Given the description of an element on the screen output the (x, y) to click on. 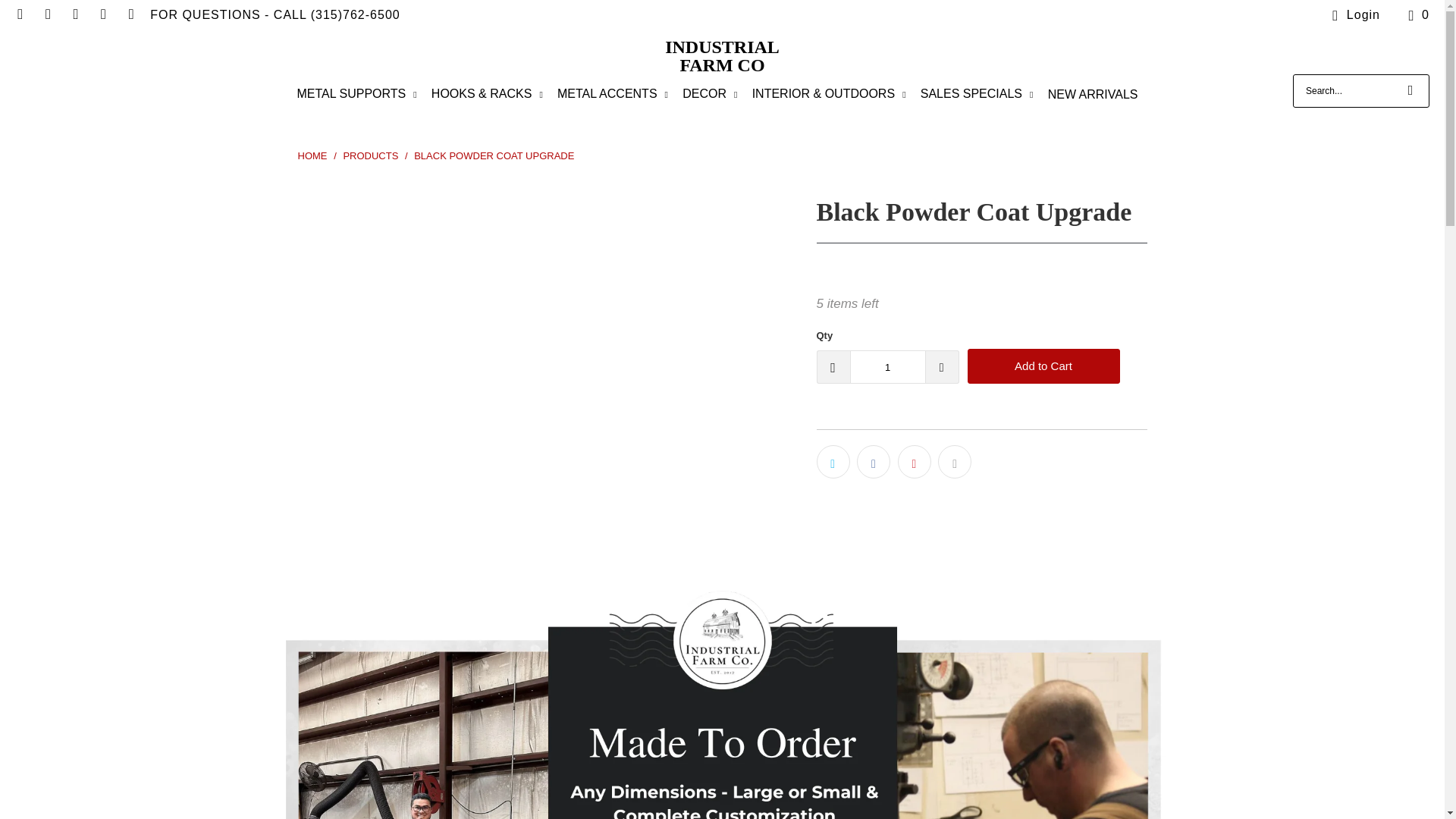
Industrial Farm Co on YouTube (130, 14)
Industrial Farm Co on Facebook (19, 14)
My Account  (1353, 14)
1 (886, 367)
Industrial Farm Co (313, 155)
Email this to a friend (954, 461)
Industrial Farm Co on Instagram (47, 14)
Industrial Farm Co on Pinterest (74, 14)
Share this on Twitter (831, 461)
Share this on Pinterest (914, 461)
Industrial Farm Co on TikTok (103, 14)
Industrial Farm Co (722, 55)
Products (371, 155)
Share this on Facebook (873, 461)
